Given the description of an element on the screen output the (x, y) to click on. 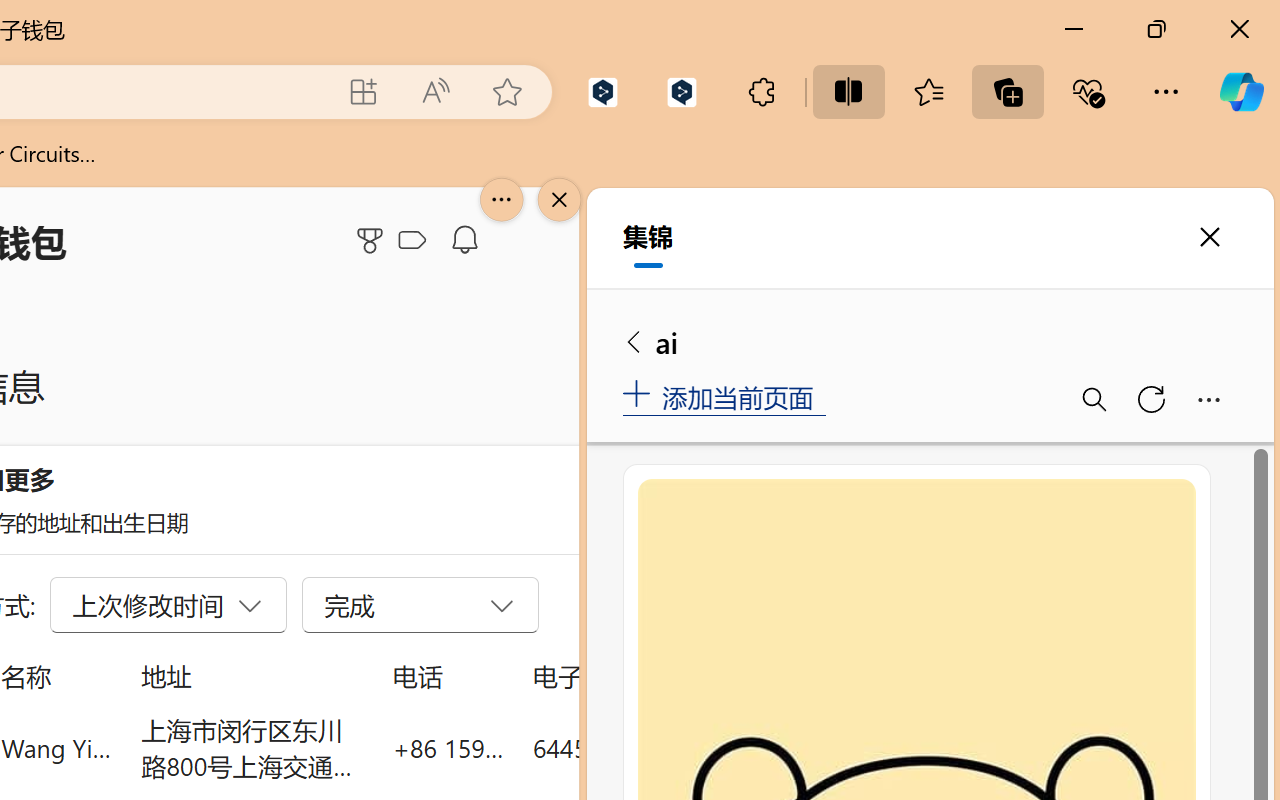
644553698@qq.com (644, 747)
Copilot (Ctrl+Shift+.) (1241, 91)
Microsoft Cashback (415, 241)
